Given the description of an element on the screen output the (x, y) to click on. 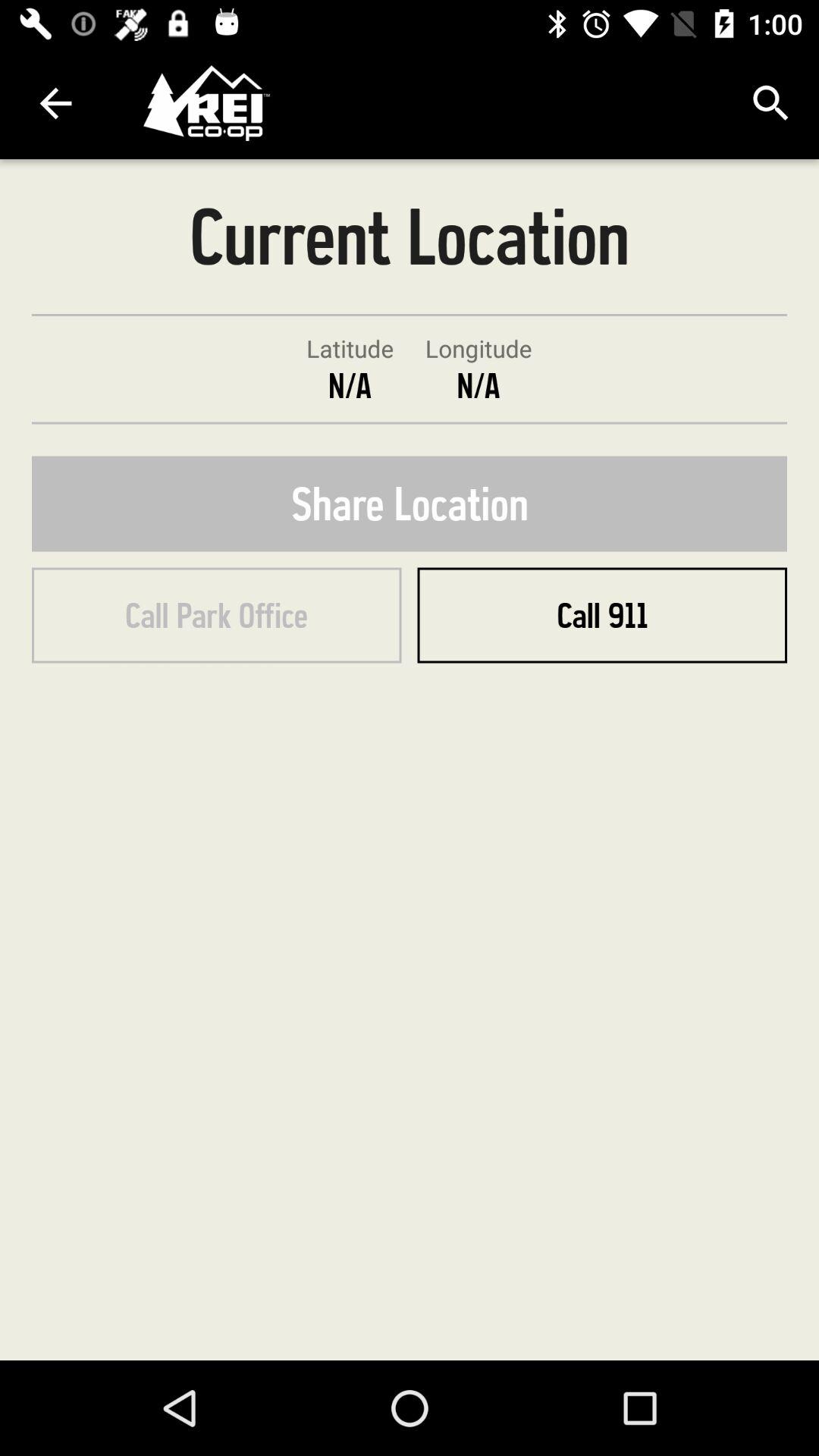
turn off call park office (216, 615)
